Given the description of an element on the screen output the (x, y) to click on. 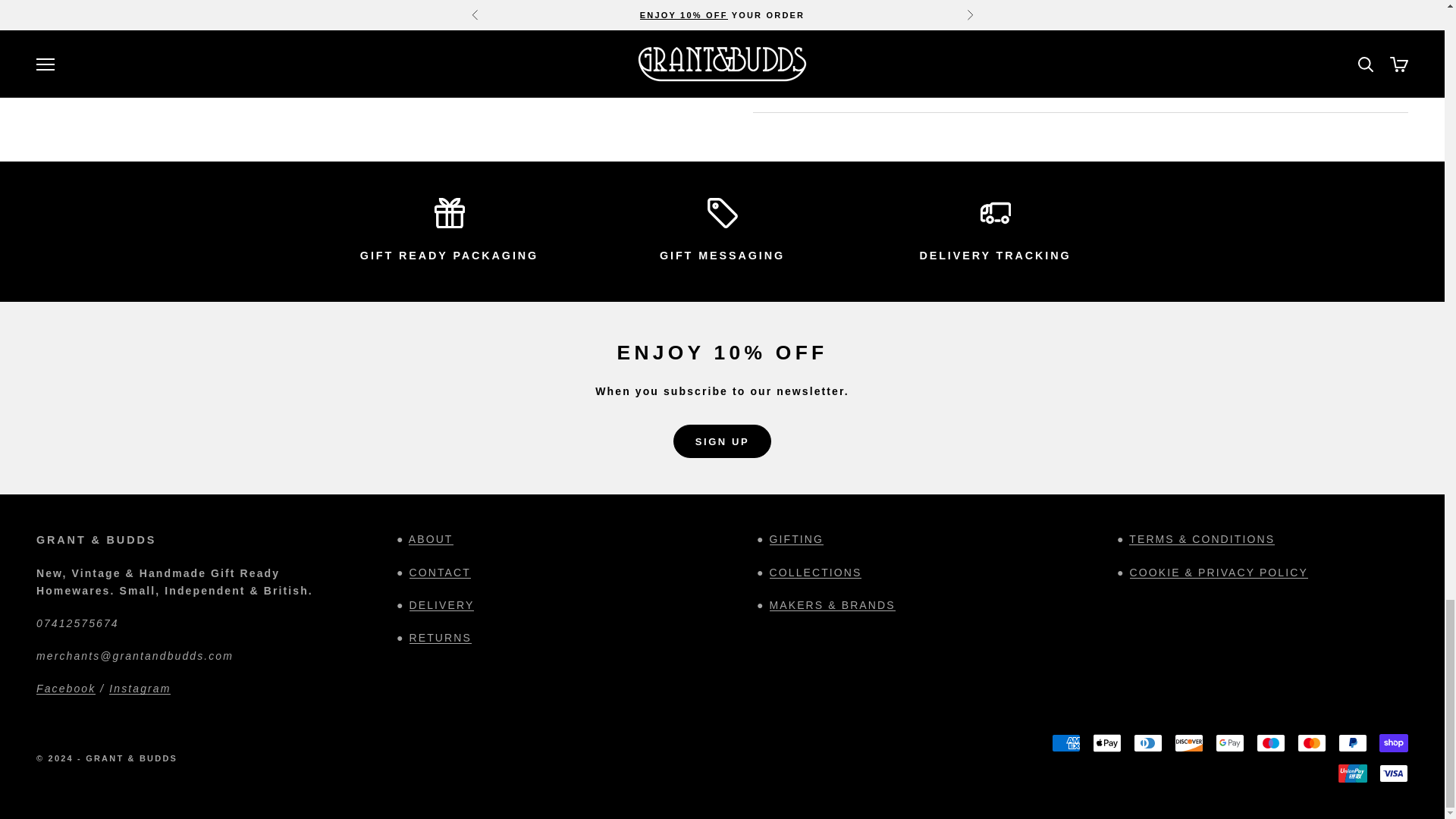
Shipping Policy (441, 604)
About (430, 539)
Instagram (139, 688)
Gifting (448, 255)
Gifting (797, 539)
Contact (439, 572)
Refund Policy (440, 637)
Collections (815, 572)
Facebook (66, 688)
Shipping Policy (994, 255)
